Given the description of an element on the screen output the (x, y) to click on. 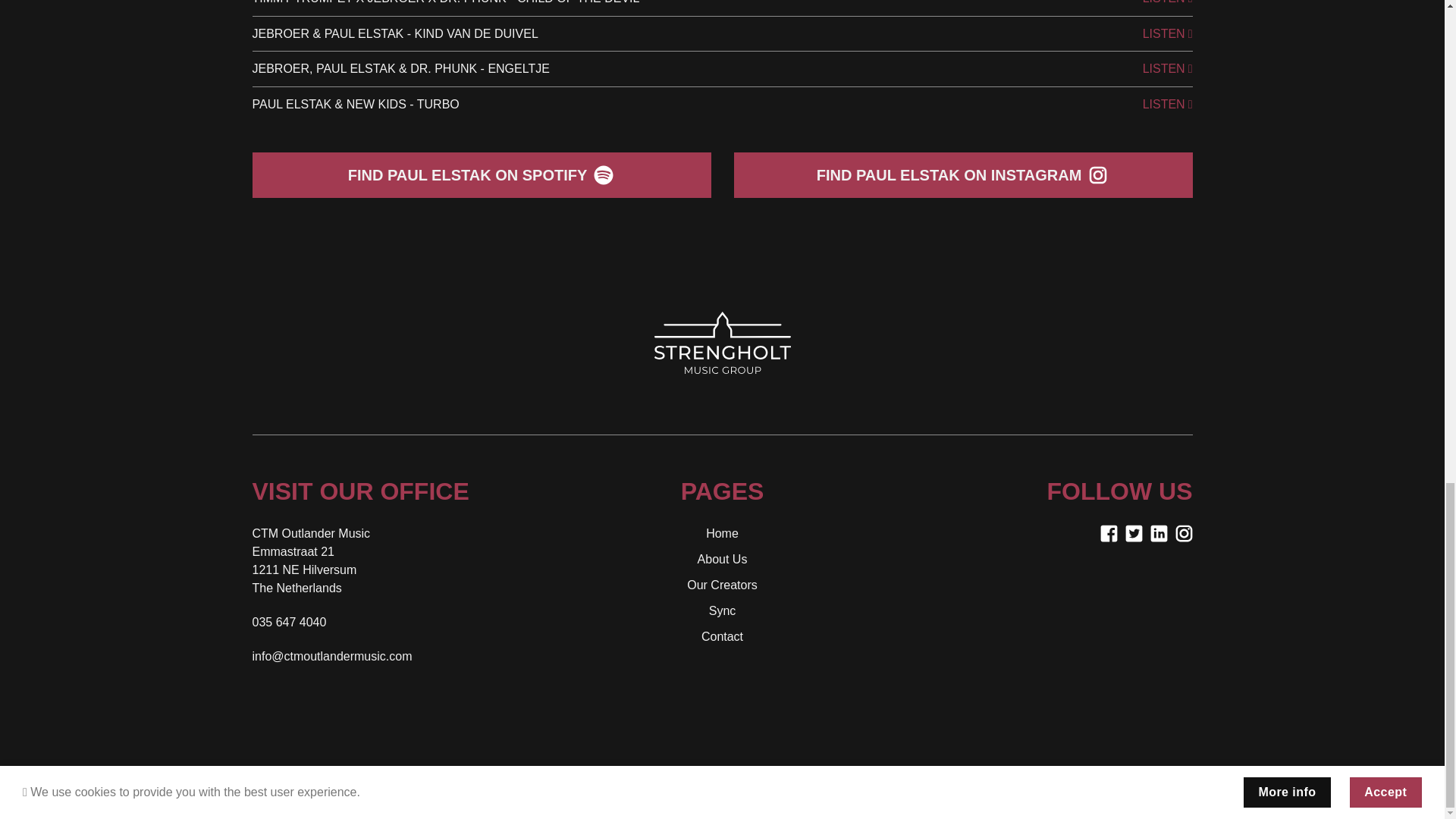
FIND PAUL ELSTAK ON INSTAGRAM (962, 175)
LISTEN (1167, 4)
Our Creators (722, 584)
035 647 4040 (288, 621)
GRATE (748, 771)
About Us (722, 558)
Contact (721, 635)
LISTEN (1167, 34)
FIND PAUL ELSTAK ON SPOTIFY (480, 175)
LISTEN (1167, 104)
